Given the description of an element on the screen output the (x, y) to click on. 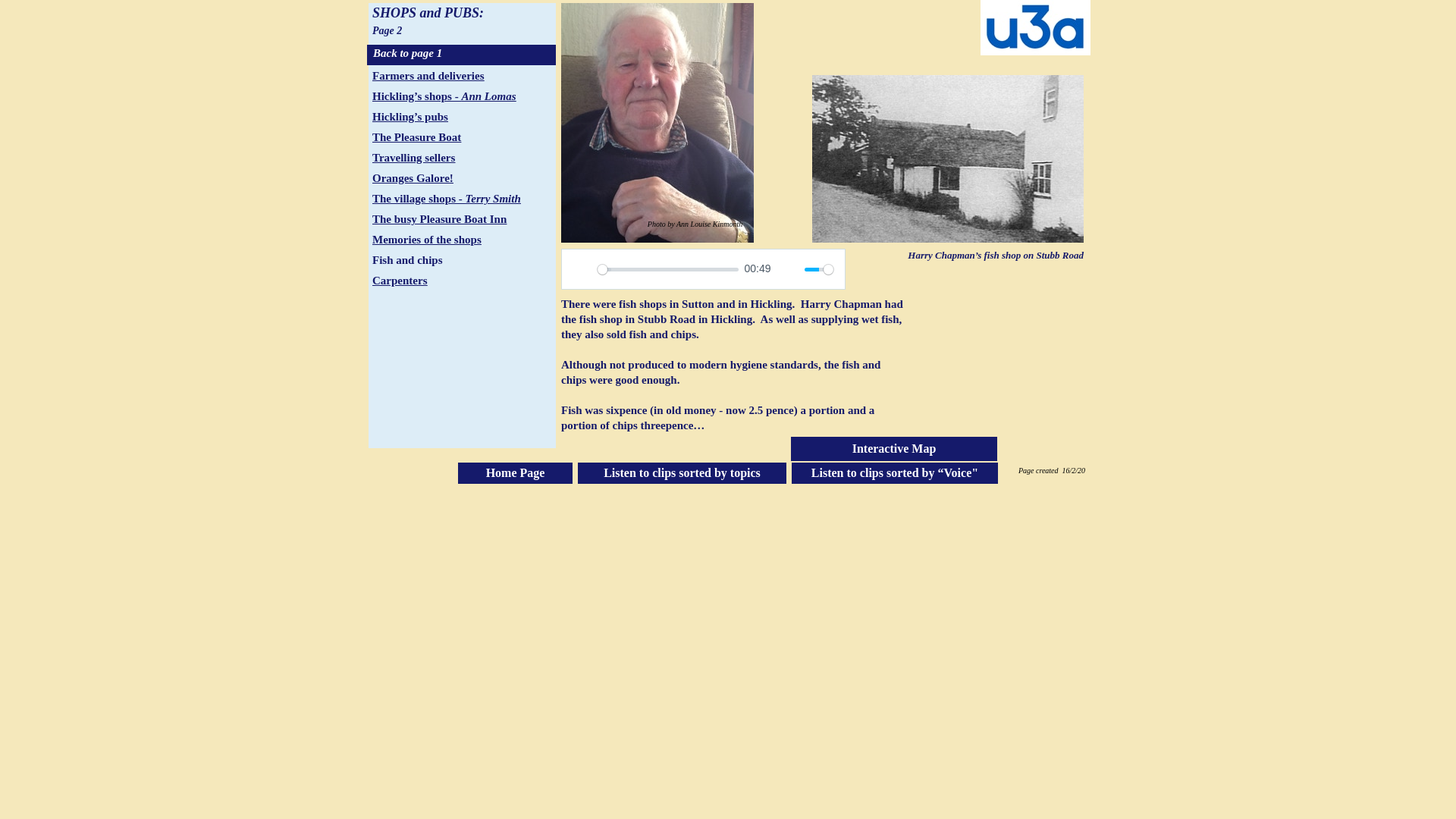
1 (818, 269)
Interactive Map (893, 448)
0 (667, 269)
Play (581, 269)
Back to page 1 (461, 55)
Terry Smith (493, 198)
Carpenters (399, 280)
Mute (788, 269)
Ann Lomas (488, 96)
Farmers and deliveries (427, 75)
